Given the description of an element on the screen output the (x, y) to click on. 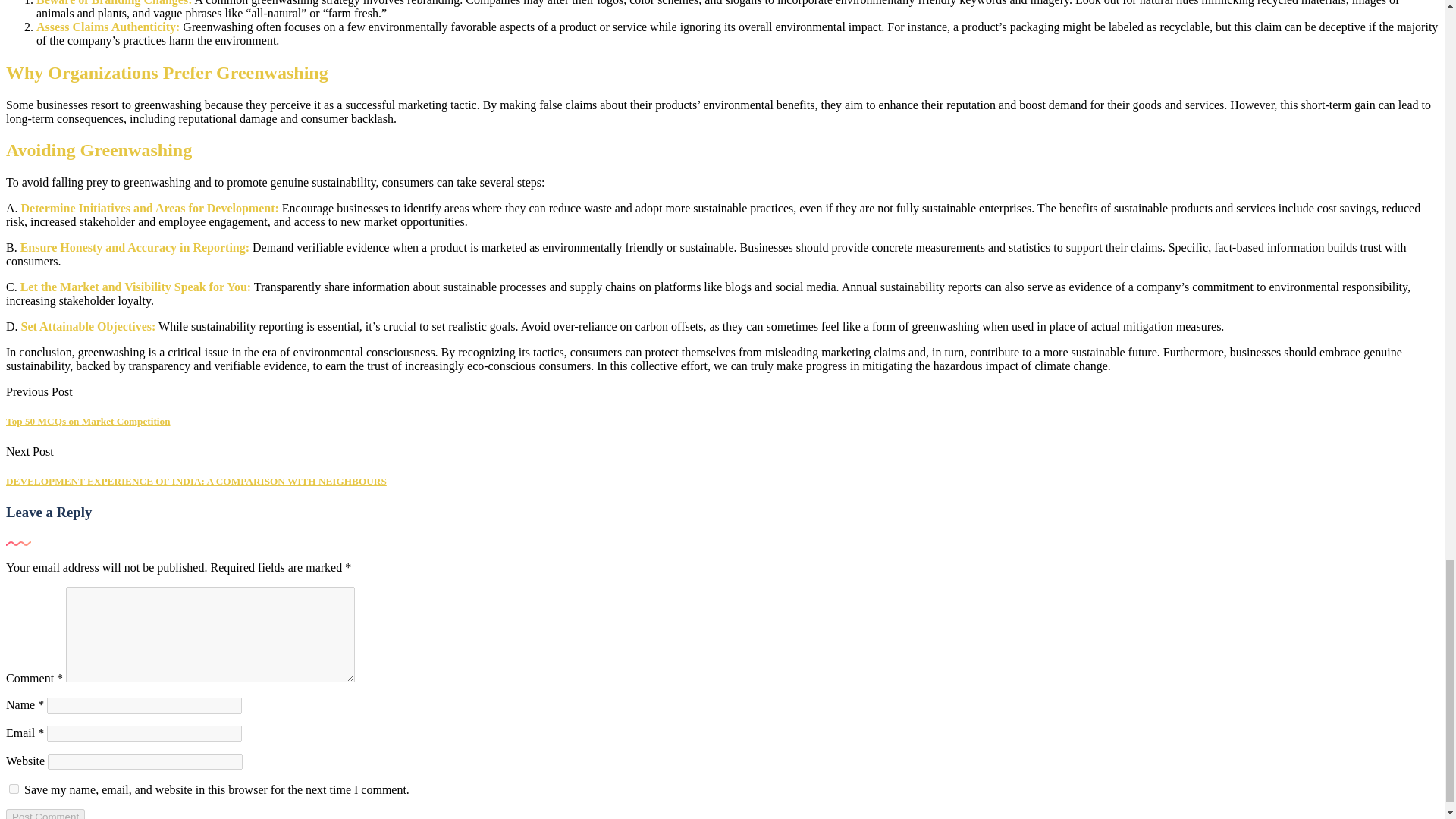
yes (13, 788)
